Given the description of an element on the screen output the (x, y) to click on. 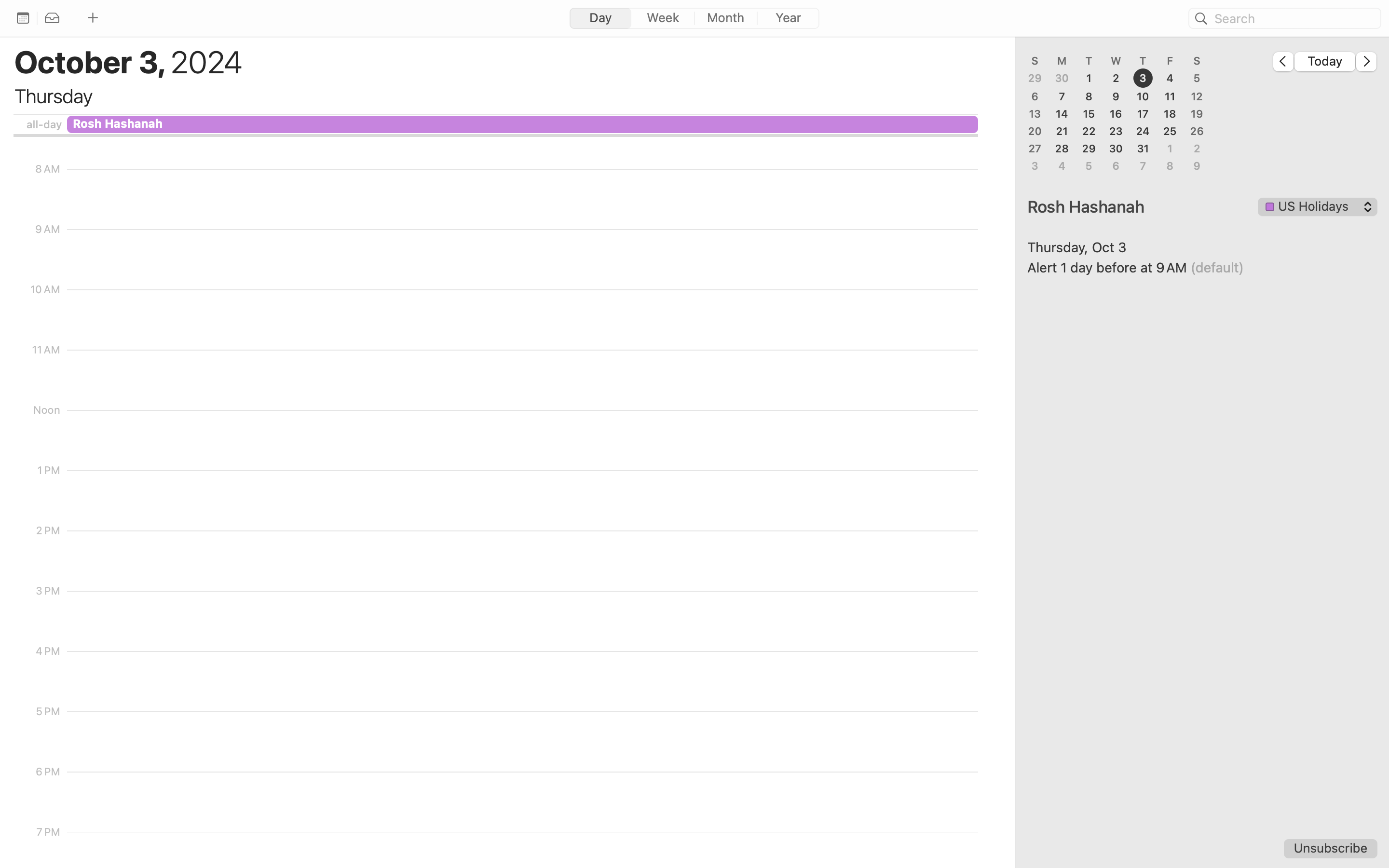
31 Element type: AXStaticText (1142, 148)
14 Element type: AXStaticText (1061, 113)
3 Element type: AXStaticText (1142, 78)
20 Element type: AXStaticText (1034, 130)
16 Element type: AXStaticText (1115, 113)
